Given the description of an element on the screen output the (x, y) to click on. 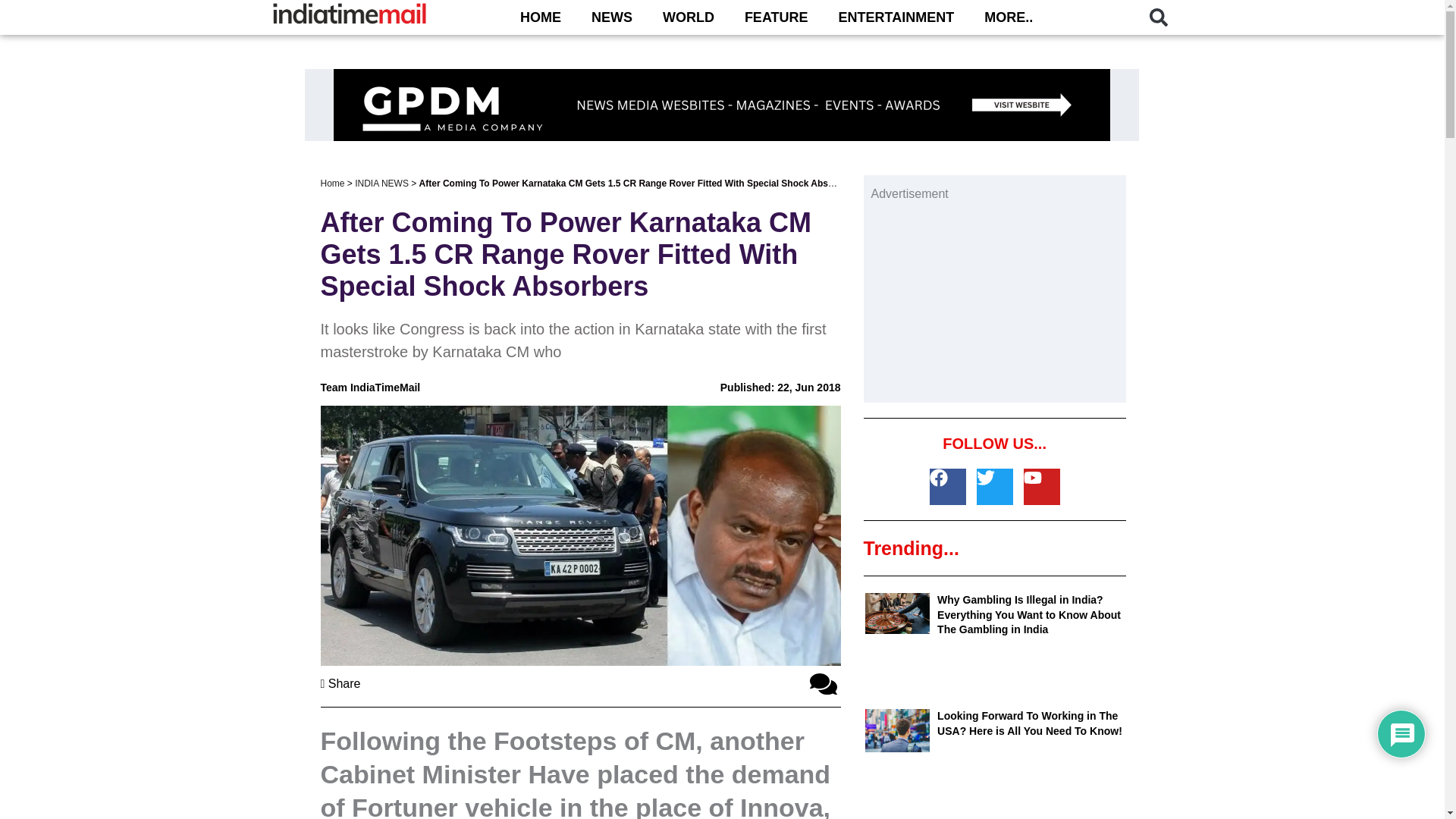
HOME (540, 17)
FEATURE (776, 17)
WORLD (688, 17)
MORE.. (1008, 17)
NEWS (611, 17)
ENTERTAINMENT (896, 17)
